Given the description of an element on the screen output the (x, y) to click on. 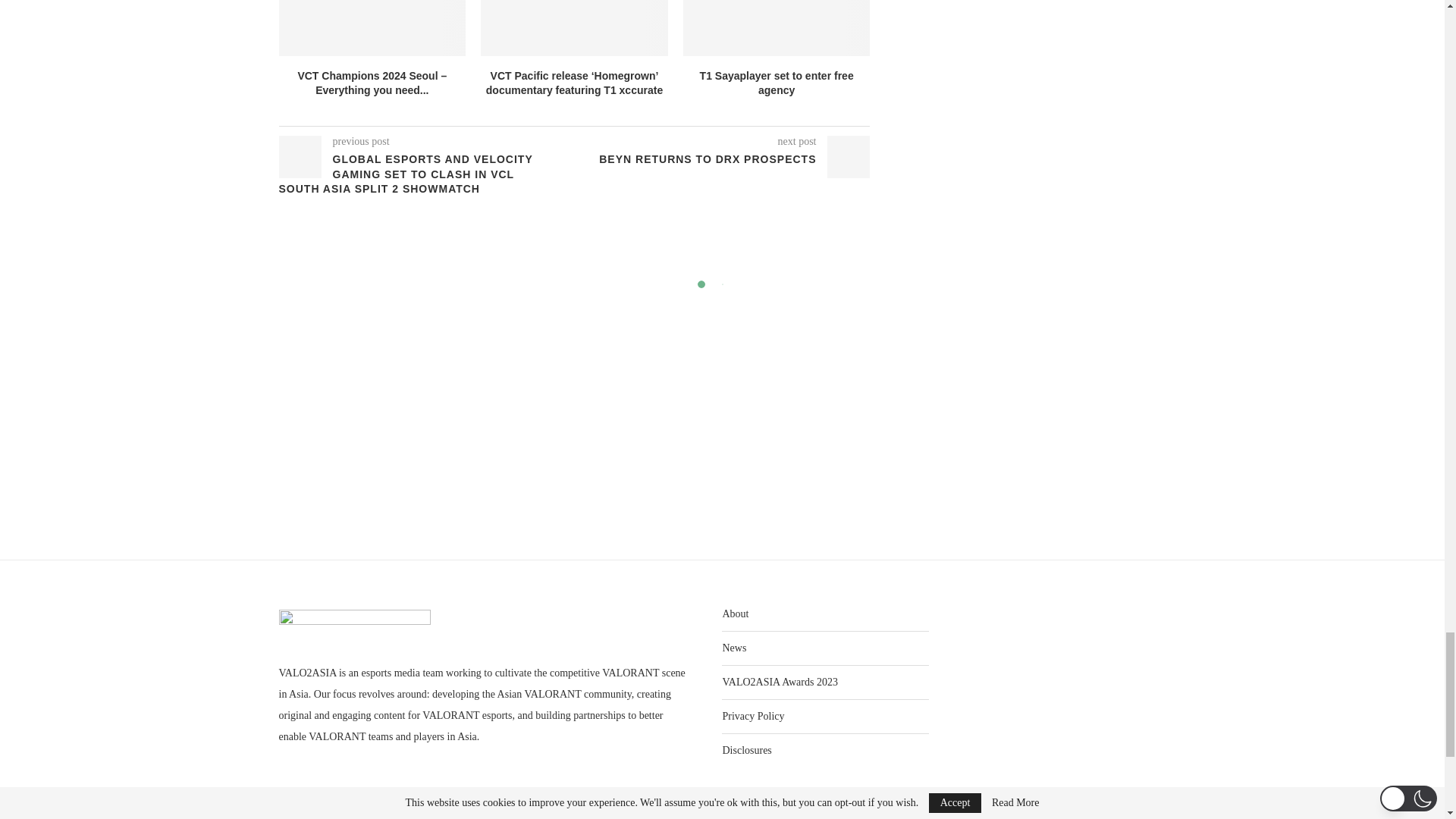
T1 Sayaplayer set to enter free agency (776, 27)
